Given the description of an element on the screen output the (x, y) to click on. 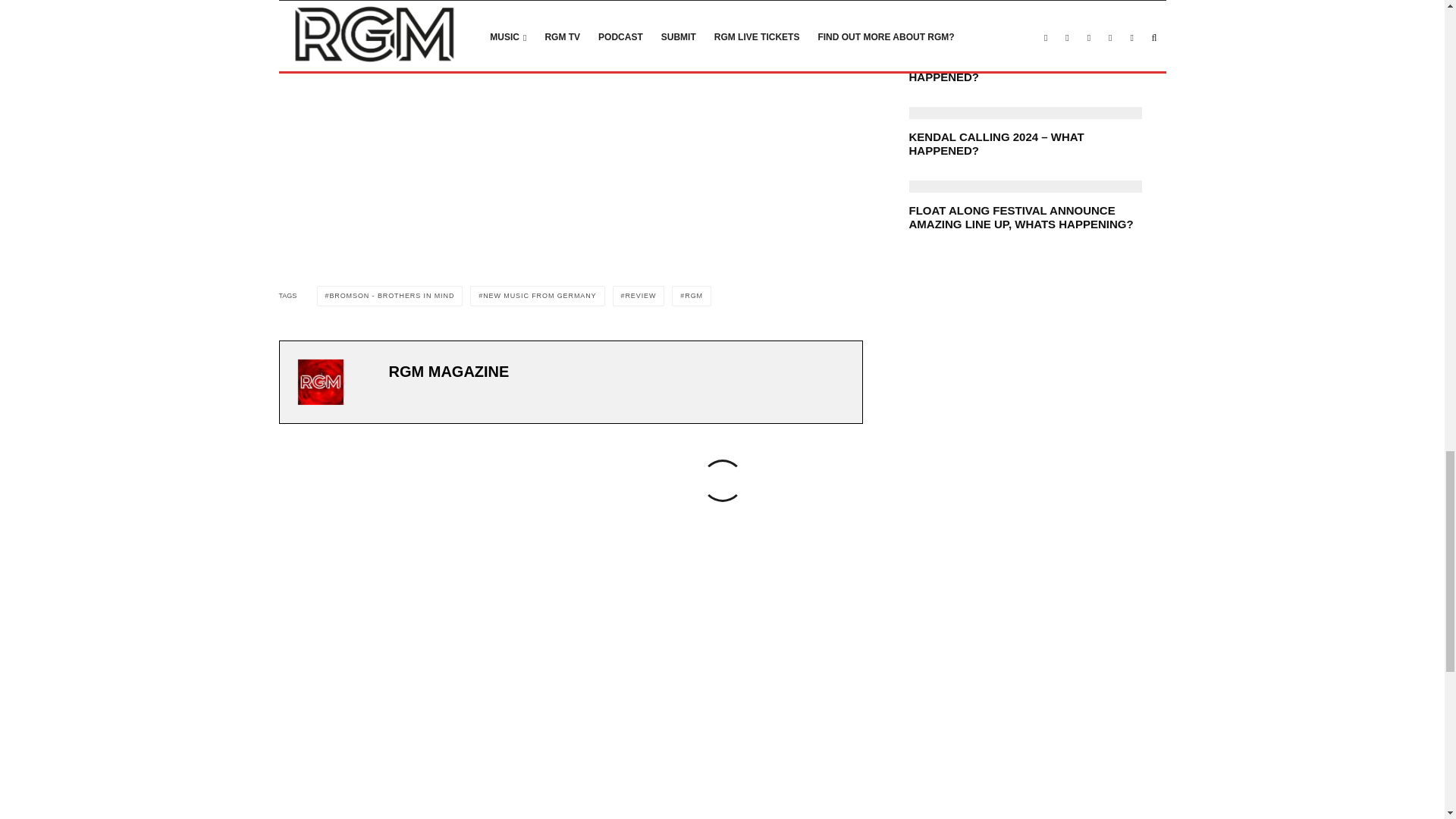
FLOAT ALONG FESTIVAL (1024, 186)
KENDAL CALLING 2024 (1024, 112)
KORN (1024, 39)
Spotify Embed: Brothers in Mind (571, 114)
